Given the description of an element on the screen output the (x, y) to click on. 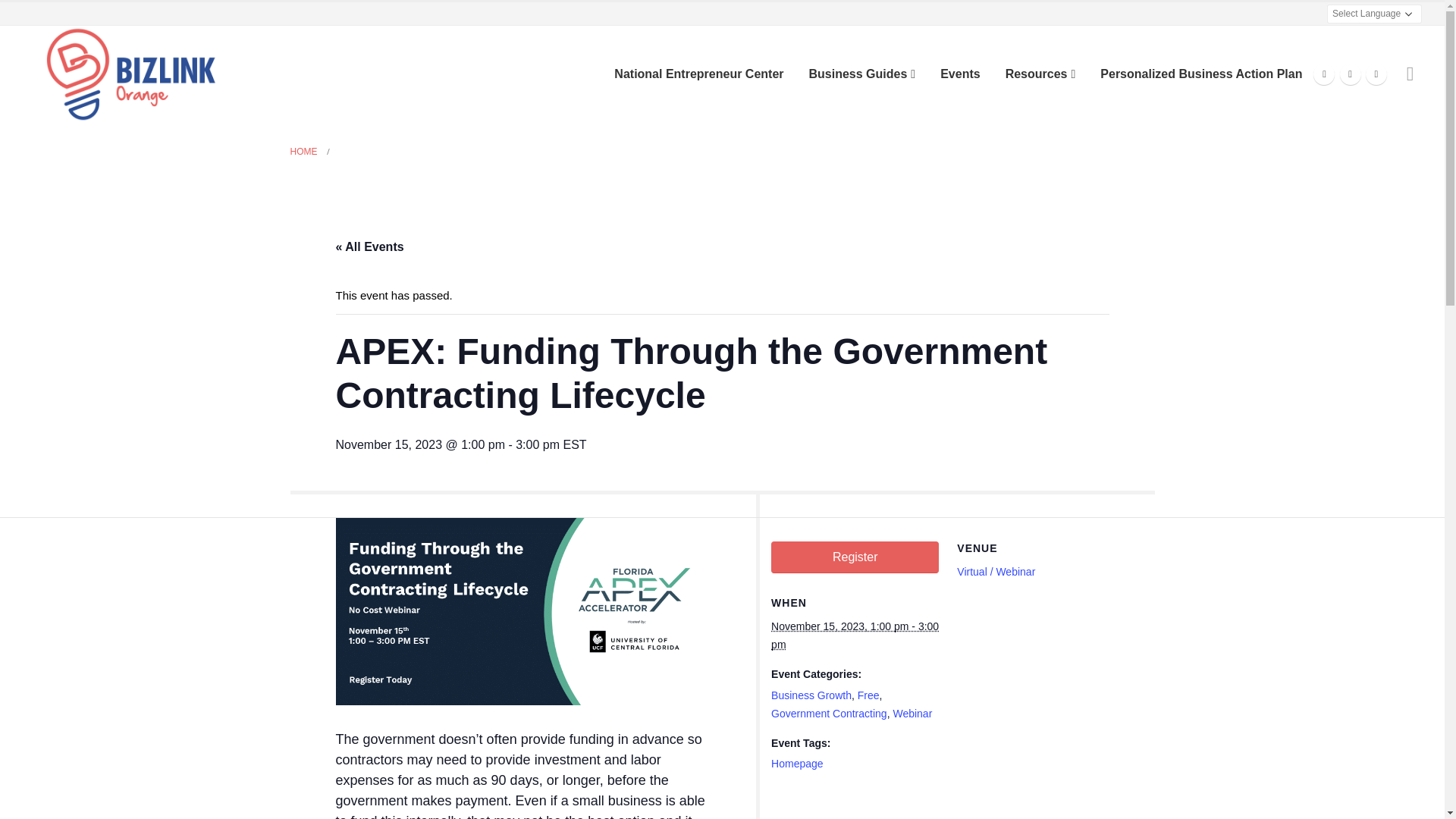
BizLink Orange - BizLink Orange (128, 73)
National Entrepreneur Center (698, 74)
LinkedIn (1376, 74)
Go to Home Page (303, 151)
Facebook (1324, 74)
Business Guides (861, 74)
Personalized Business Action Plan (1200, 74)
Resources (1039, 74)
Instagram (1350, 74)
English (1318, 13)
